Given the description of an element on the screen output the (x, y) to click on. 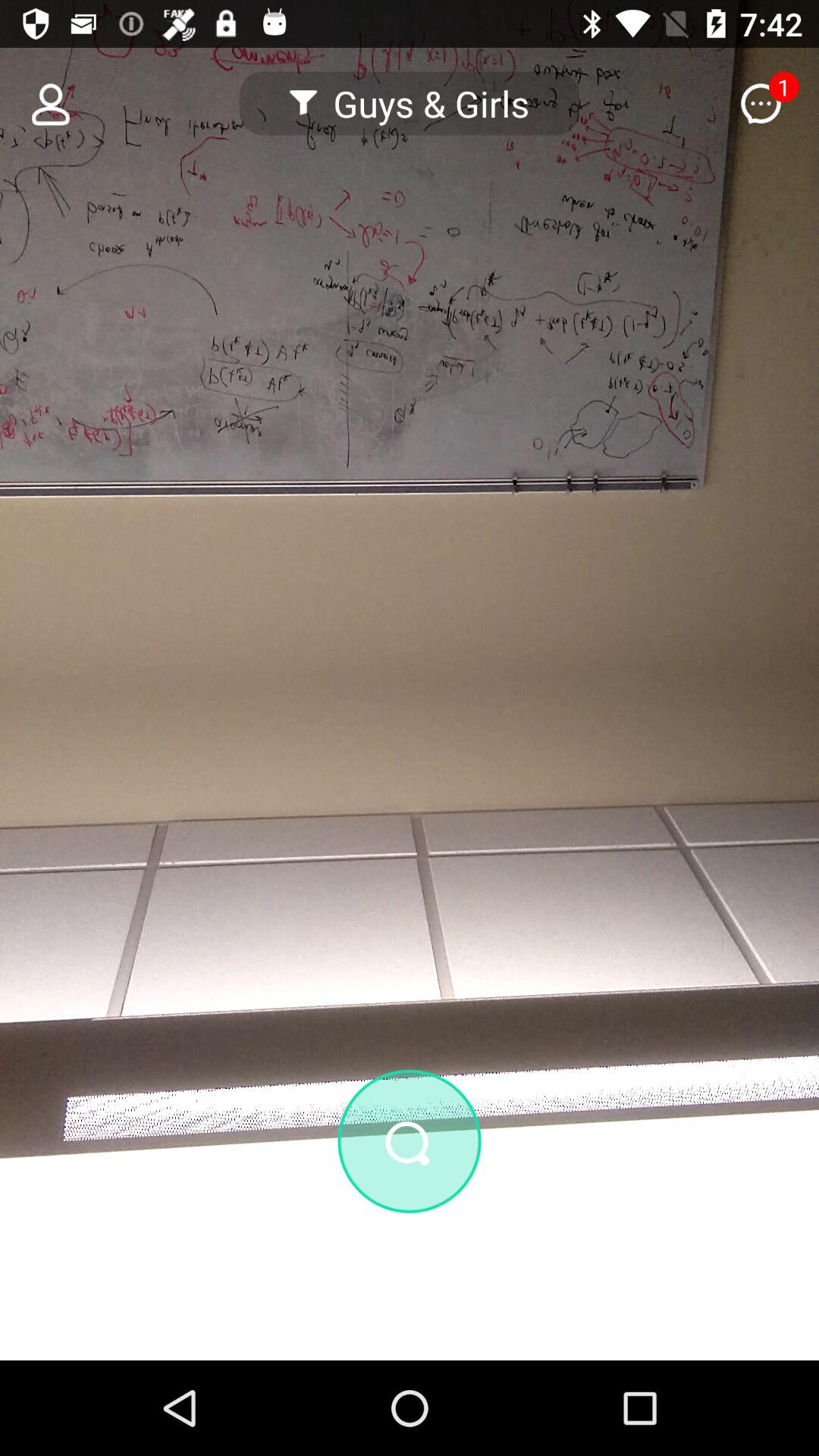
opens the search box (409, 1141)
